Given the description of an element on the screen output the (x, y) to click on. 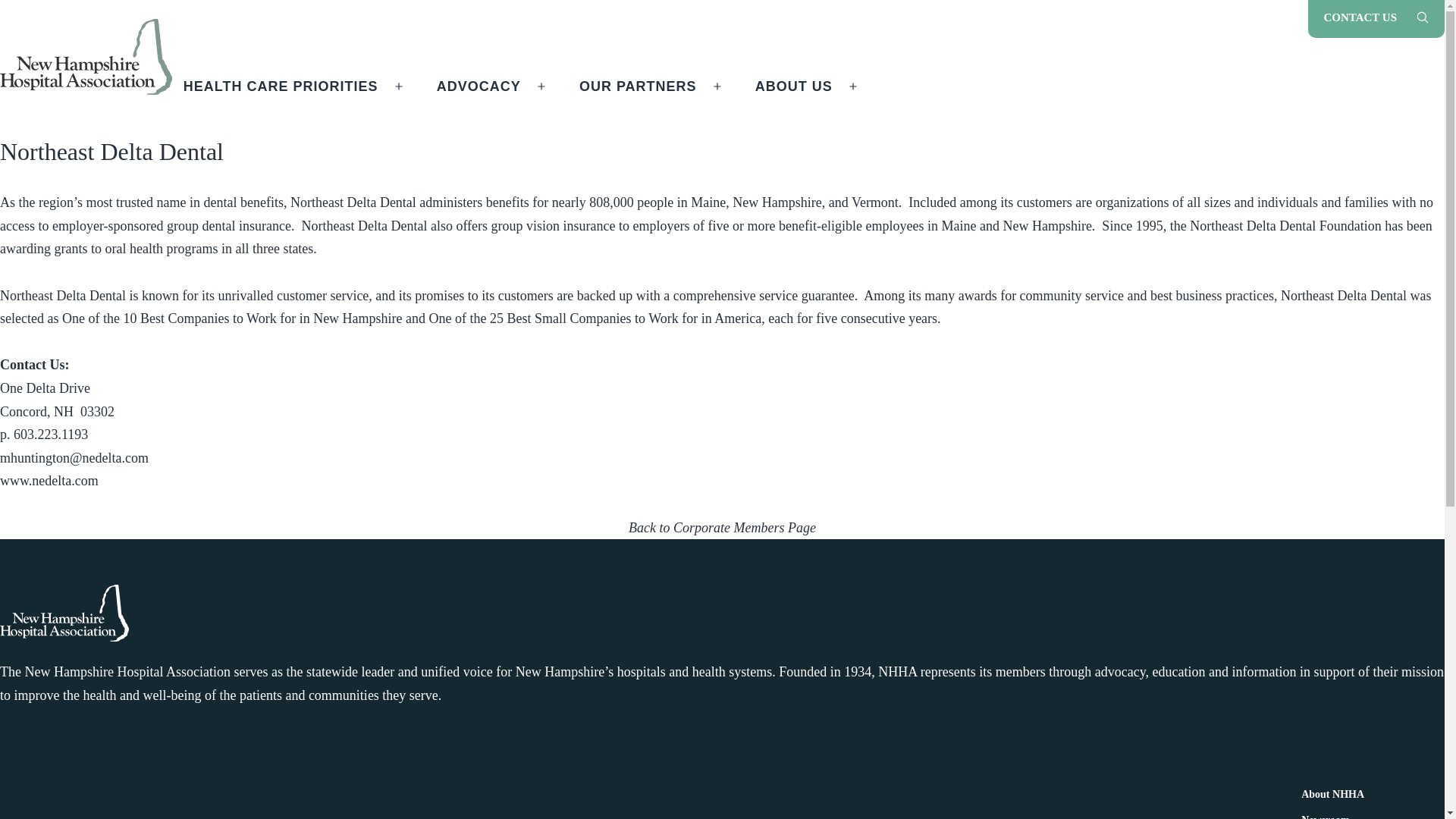
Open menu (540, 86)
Open menu (852, 86)
ADVOCACY (477, 86)
ABOUT US (794, 86)
CONTACT US (1359, 19)
Open menu (716, 86)
Open menu (397, 86)
OUR PARTNERS (637, 86)
HEALTH CARE PRIORITIES (280, 86)
